Given the description of an element on the screen output the (x, y) to click on. 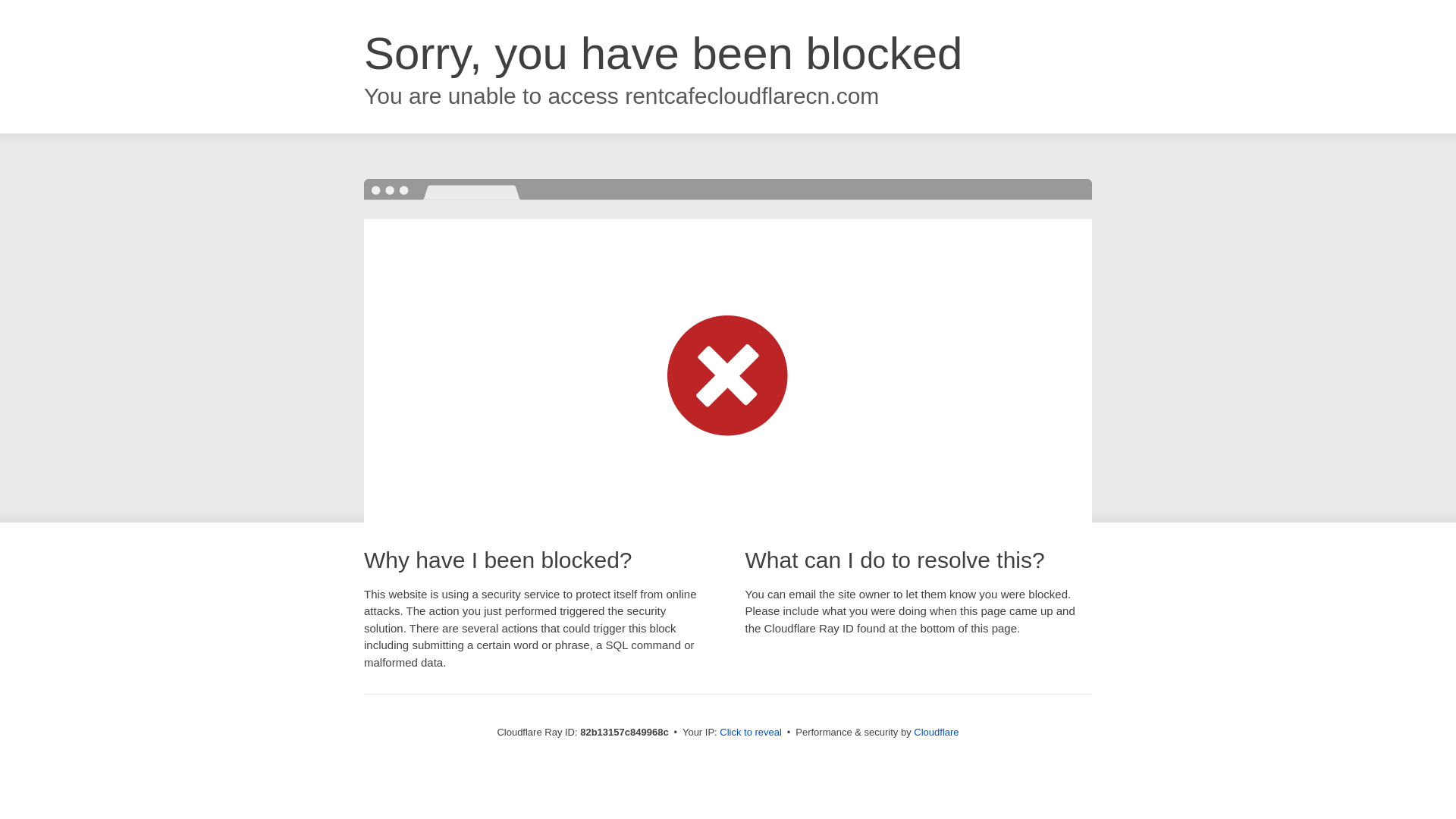
Click to reveal Element type: text (750, 732)
Cloudflare Element type: text (935, 731)
